Given the description of an element on the screen output the (x, y) to click on. 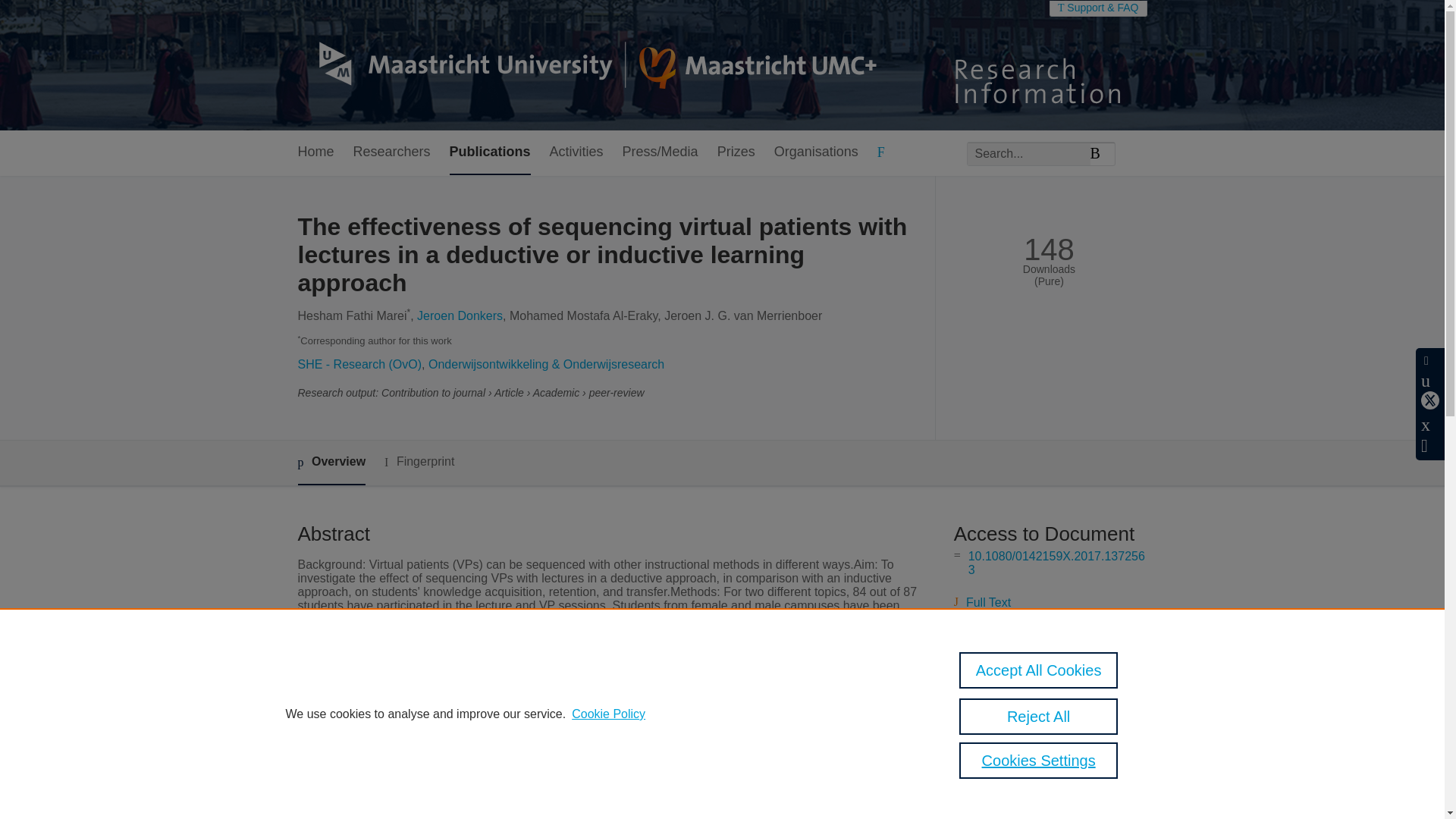
Fingerprint (419, 462)
Jeroen Donkers (459, 315)
Overview (331, 462)
Researchers (391, 152)
Organisations (816, 152)
Activities (577, 152)
Taverne (1023, 631)
Publications (490, 152)
Maastricht University Home (586, 64)
Full Text (988, 602)
Medical Teacher (554, 816)
